Given the description of an element on the screen output the (x, y) to click on. 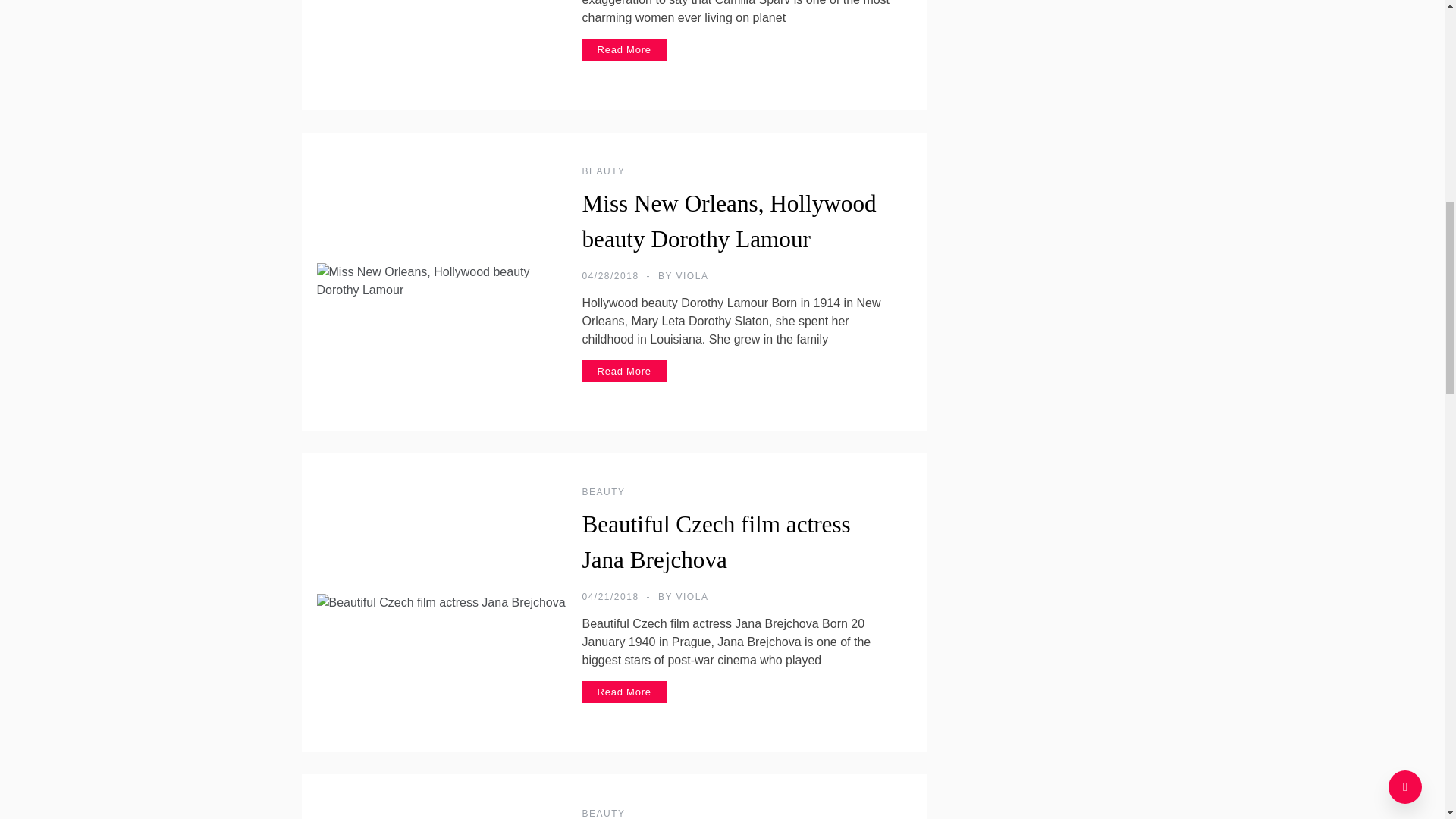
VIOLA (693, 276)
BEAUTY (604, 171)
VIOLA (693, 596)
Read More (624, 371)
BEAUTY (604, 491)
Read More (624, 691)
Beautiful Czech film actress Jana Brejchova (716, 542)
BEAUTY (604, 813)
Read More (624, 49)
Miss New Orleans, Hollywood beauty Dorothy Lamour (729, 221)
